Given the description of an element on the screen output the (x, y) to click on. 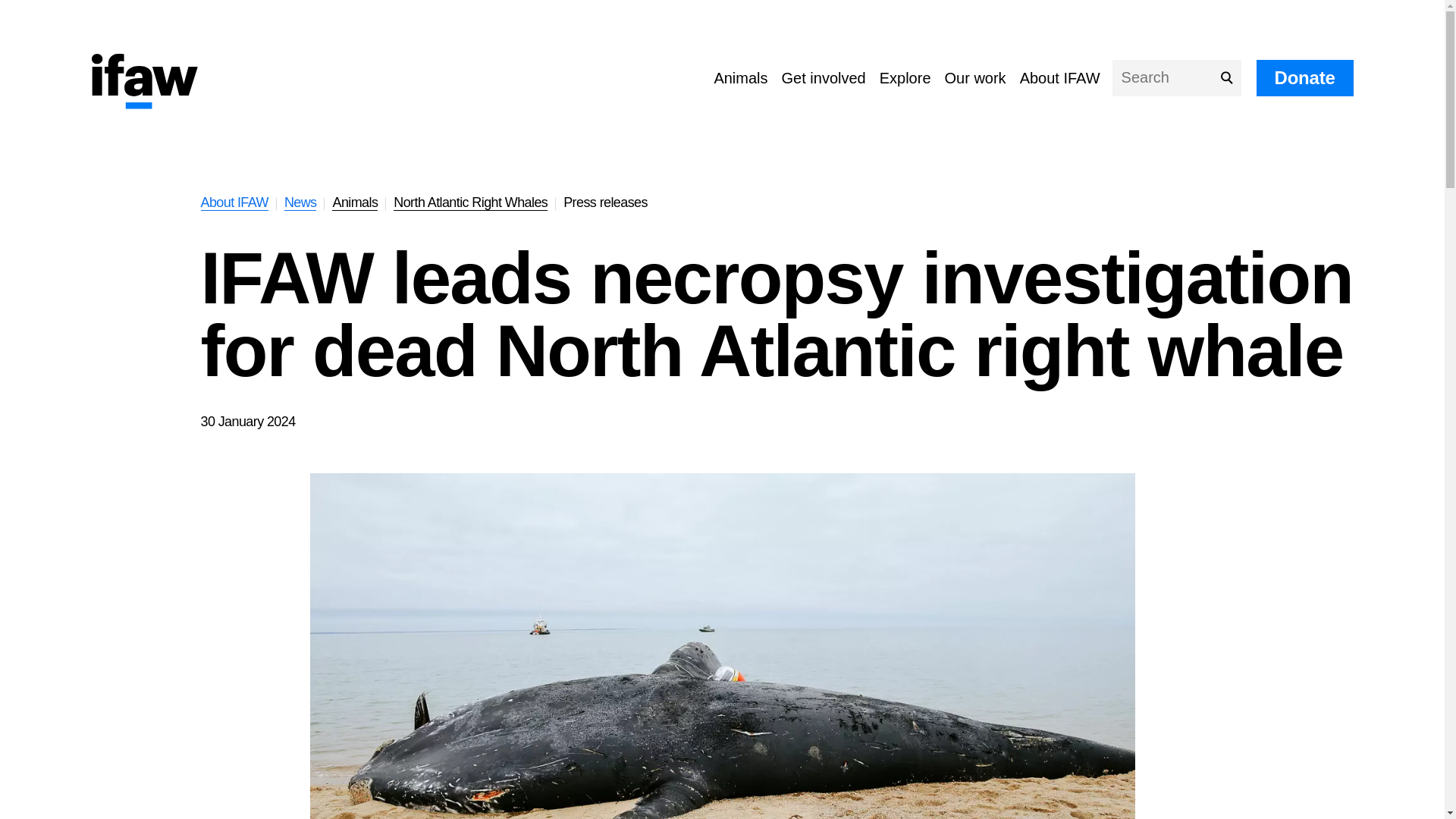
About IFAW (233, 202)
Animals (354, 202)
News (300, 202)
Explore (905, 77)
Our work (975, 77)
About IFAW (1059, 77)
Donate (1305, 77)
Get involved (823, 77)
Animals (739, 77)
